Given the description of an element on the screen output the (x, y) to click on. 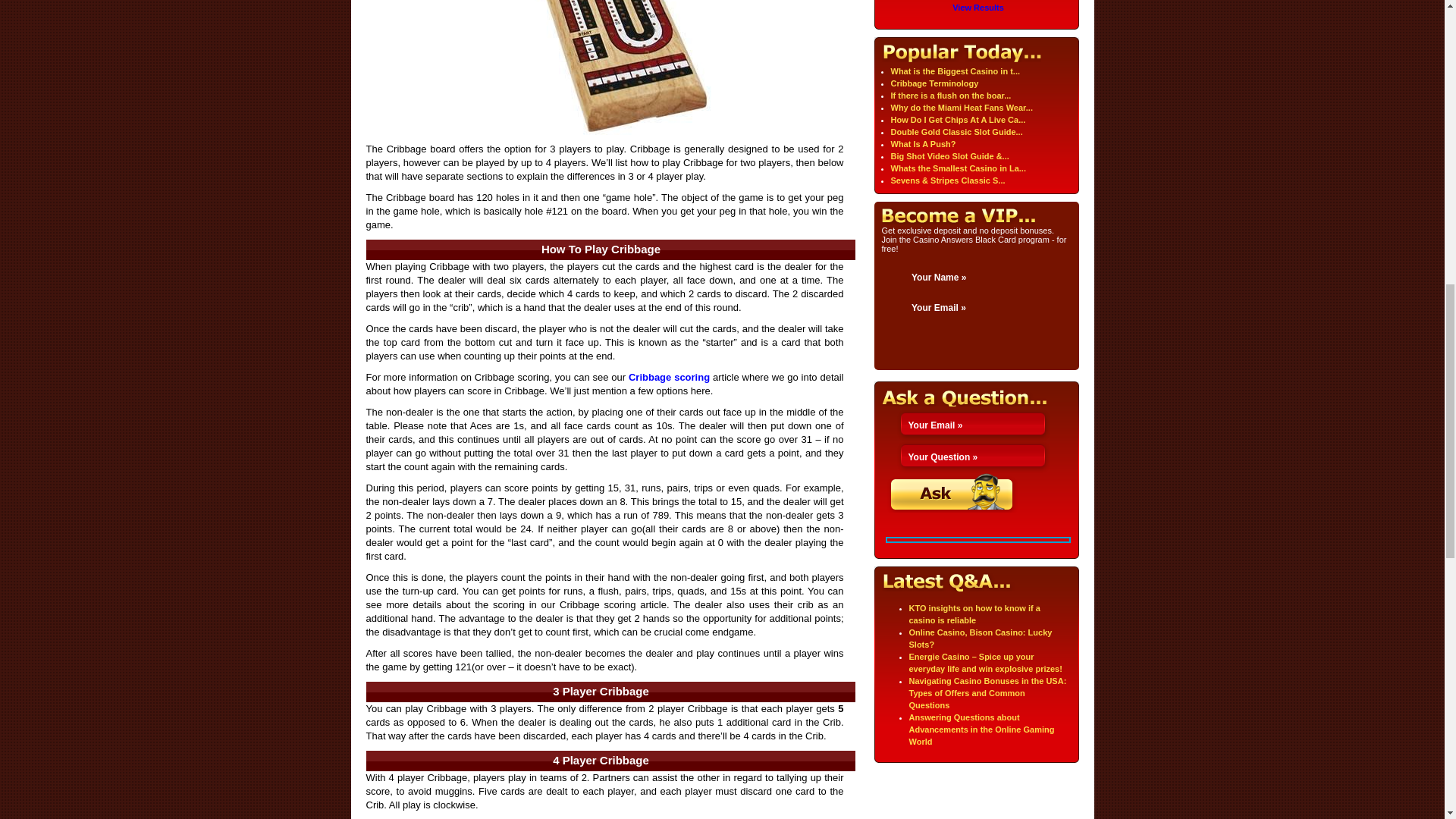
Whats the Smallest Casino in Las Vegas? (957, 167)
Online Casino, Bison Casino: Lucky Slots? (979, 638)
classic-cribbage-board (604, 67)
KTO insights on how to know if a casino is reliable (973, 613)
How Do I Get Chips At A Live Casino? (957, 119)
What is the Biggest Casino in the World? (954, 71)
View Results Of This Poll (978, 7)
If there is a flush on the board, what happens to the pot? (949, 94)
Send (951, 492)
